Given the description of an element on the screen output the (x, y) to click on. 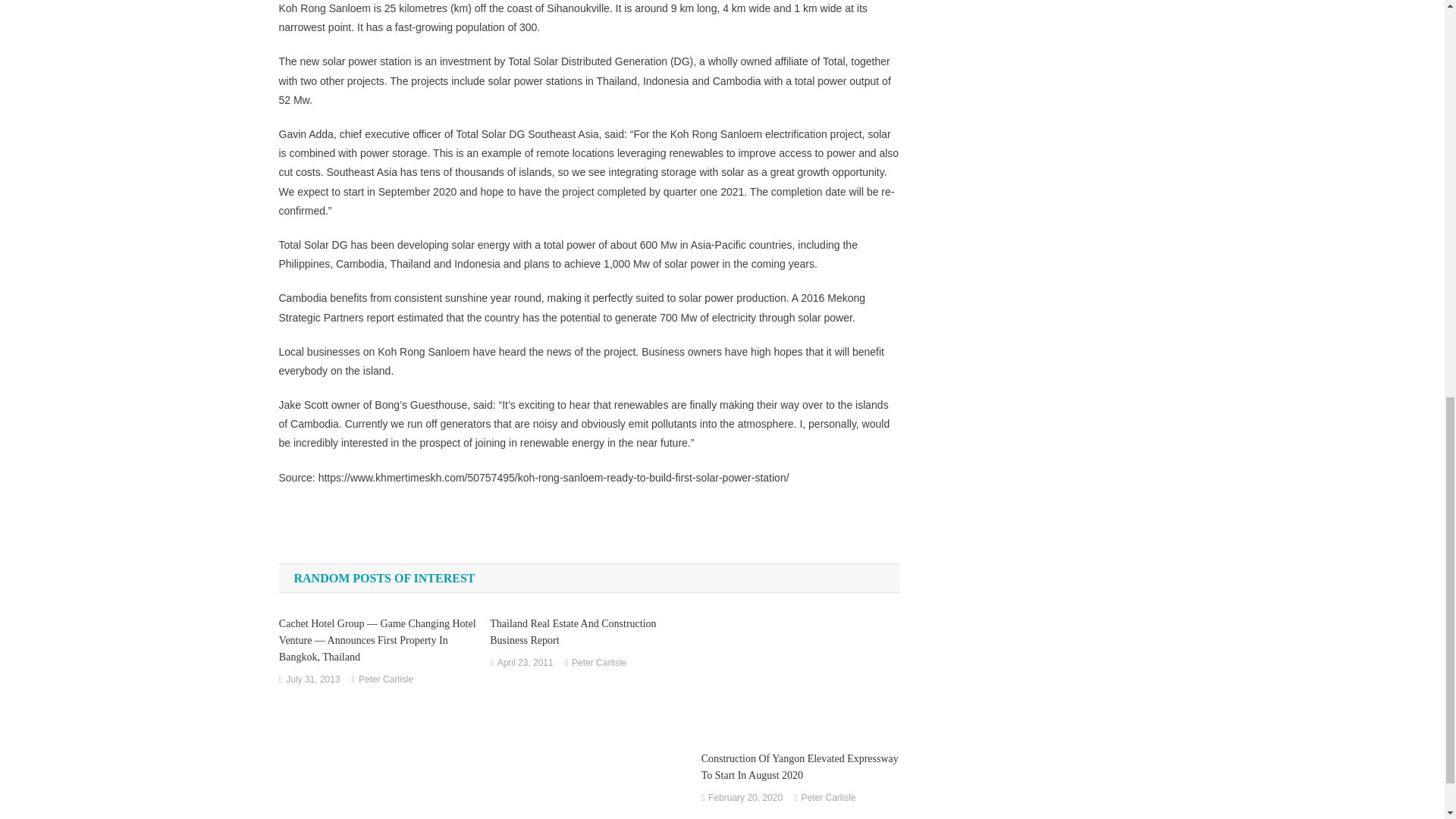
Peter Carlisle (385, 679)
Thailand Real Estate And Construction Business Report (588, 632)
July 31, 2013 (312, 679)
Peter Carlisle (599, 663)
April 23, 2011 (525, 663)
